Given the description of an element on the screen output the (x, y) to click on. 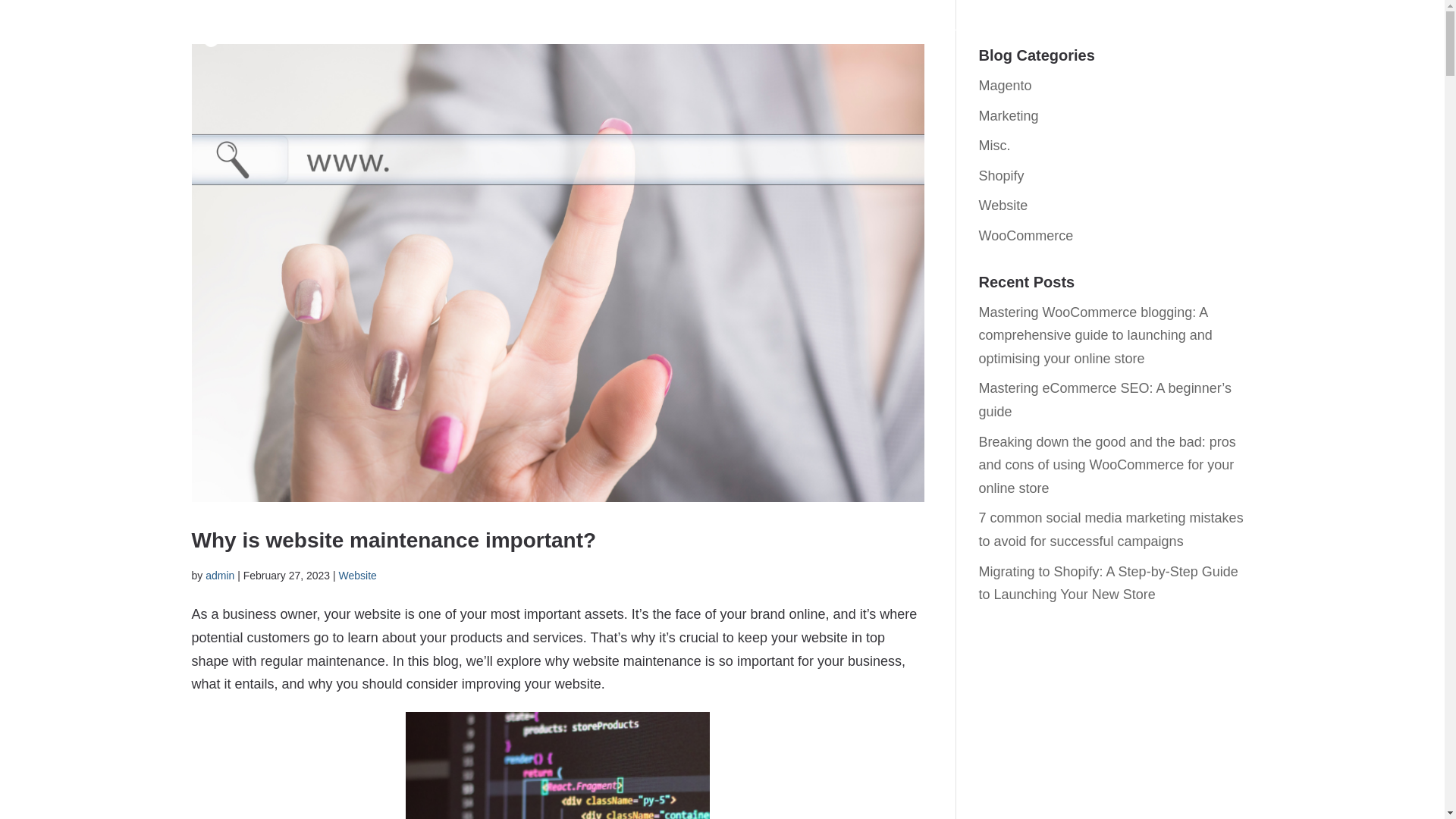
Contact (1228, 42)
admin (219, 575)
About Us (1116, 42)
Home (970, 42)
Posts by admin (219, 575)
Website (358, 575)
Marketing (1008, 115)
Website (1002, 205)
Magento (1004, 85)
